Given the description of an element on the screen output the (x, y) to click on. 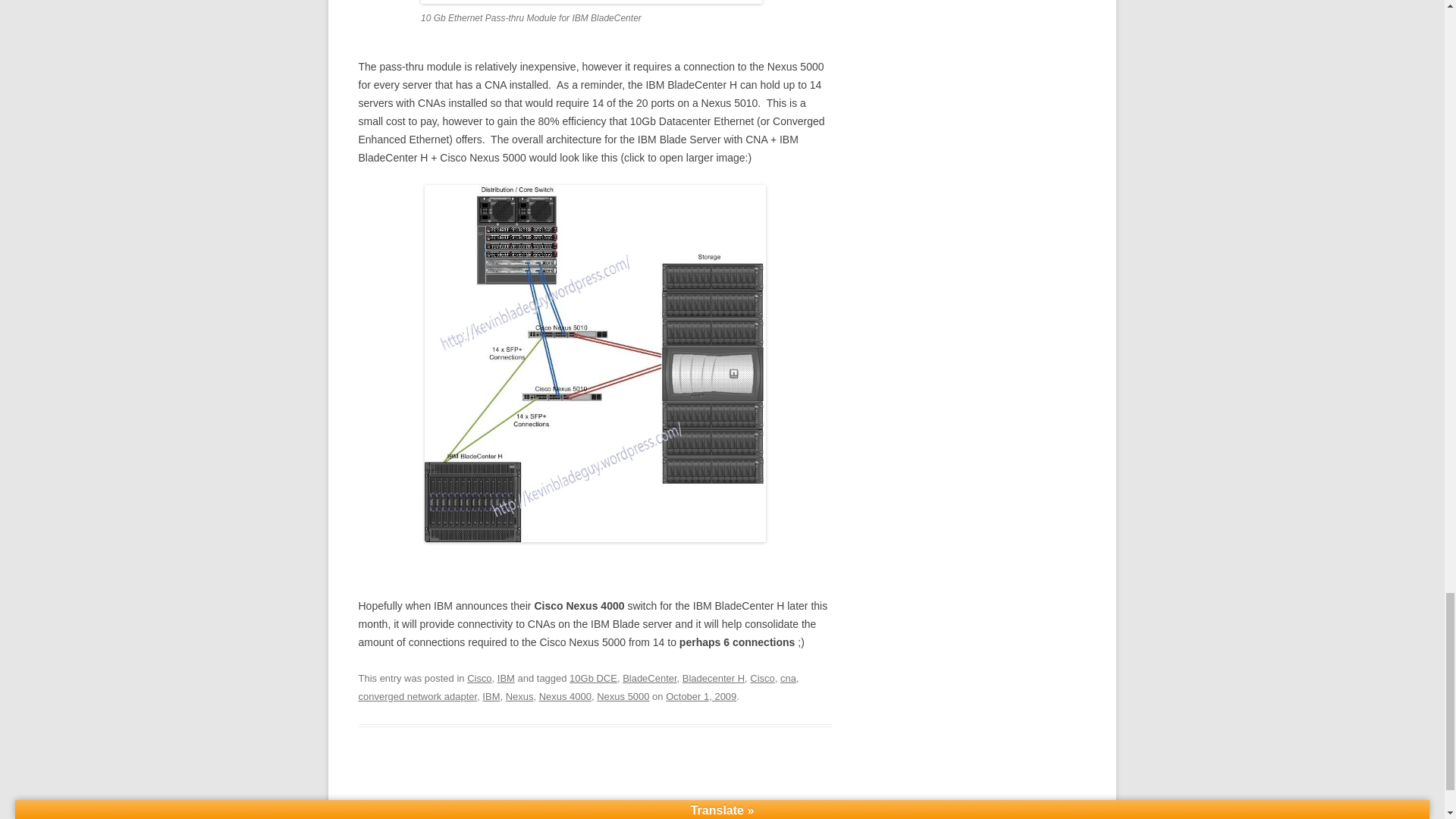
9:29 am (700, 696)
BladeCenter H Diagram 6 x 10Gb Uplinks (595, 363)
pass-thru (590, 2)
